Given the description of an element on the screen output the (x, y) to click on. 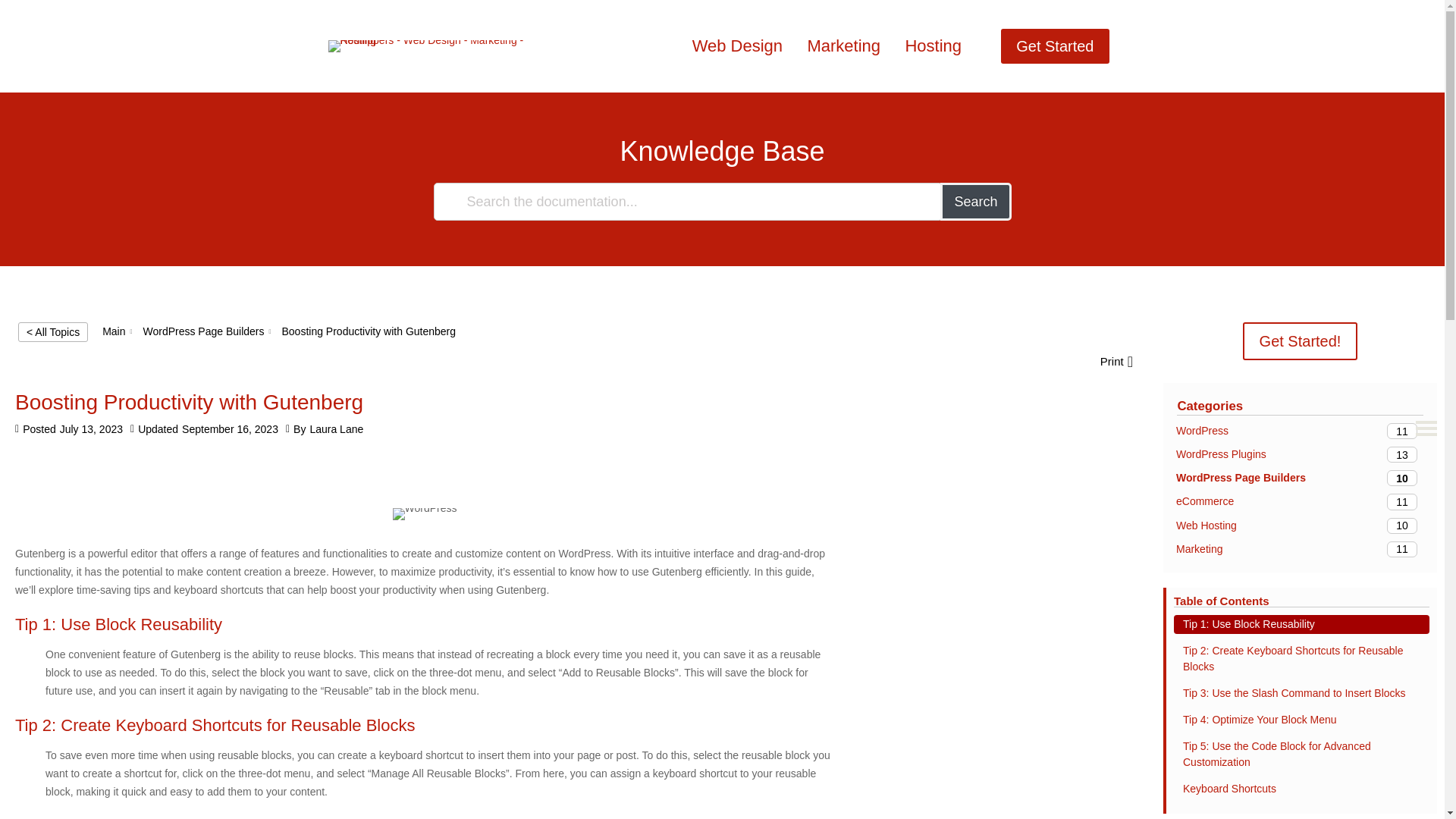
Redflippers - Web Design - Marketing - Hosting (1299, 454)
Get Started! (425, 46)
WordPress Page Builders (1300, 341)
WordPress (202, 331)
Tip 1: Use Block Reusability (425, 513)
Keyboard Shortcuts (1301, 624)
Get Started (1299, 549)
Main (1301, 788)
Tip 5: Use the Code Block for Advanced Customization (1054, 45)
Tip 4: Optimize Your Block Menu (113, 331)
Search (1301, 754)
